Given the description of an element on the screen output the (x, y) to click on. 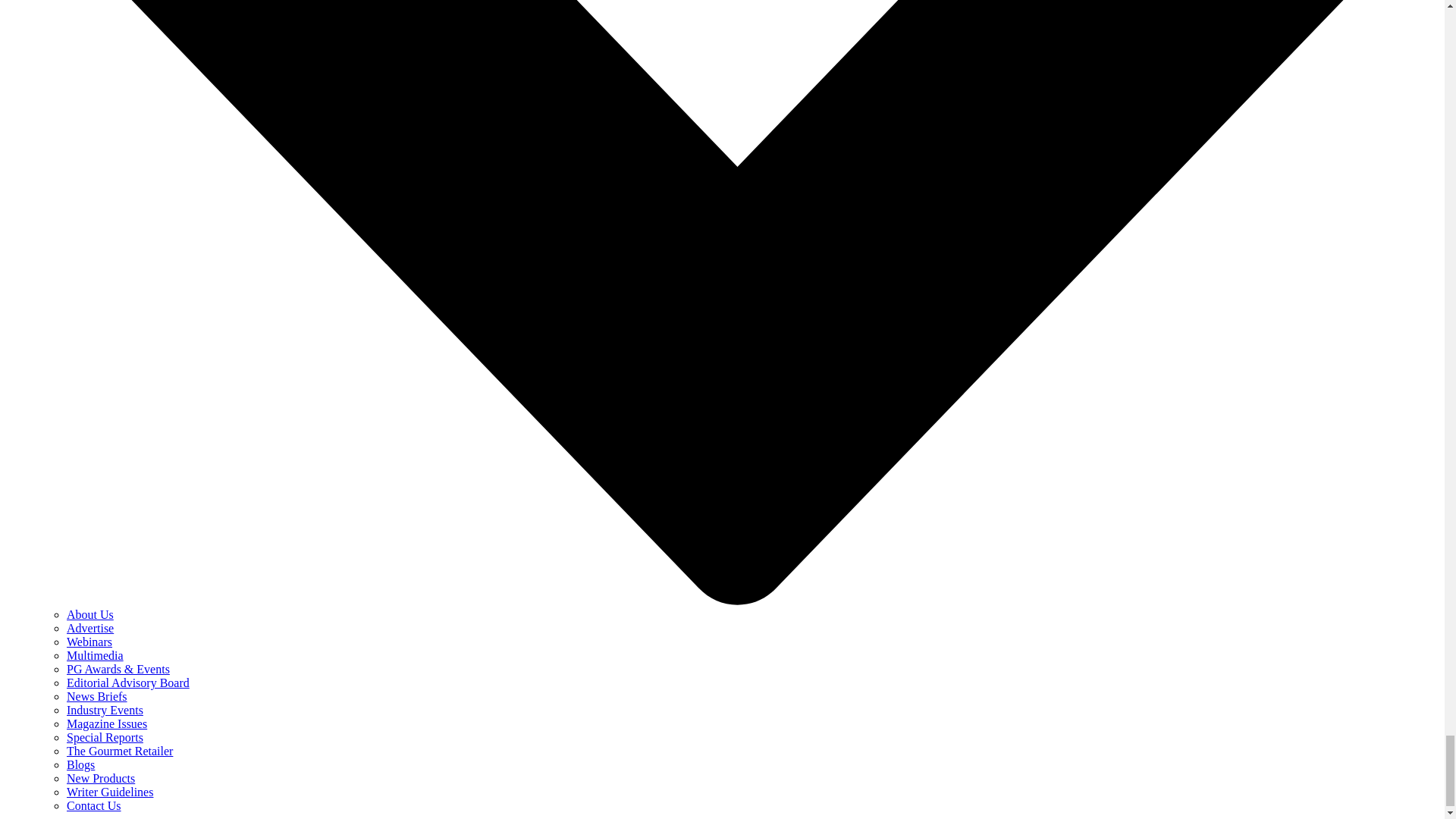
Advertise (89, 627)
Industry Events (104, 709)
About Us (89, 614)
Magazine Issues (106, 723)
Multimedia (94, 655)
Special Reports (104, 737)
Webinars (89, 641)
News Briefs (97, 696)
Editorial Advisory Board (127, 682)
